Given the description of an element on the screen output the (x, y) to click on. 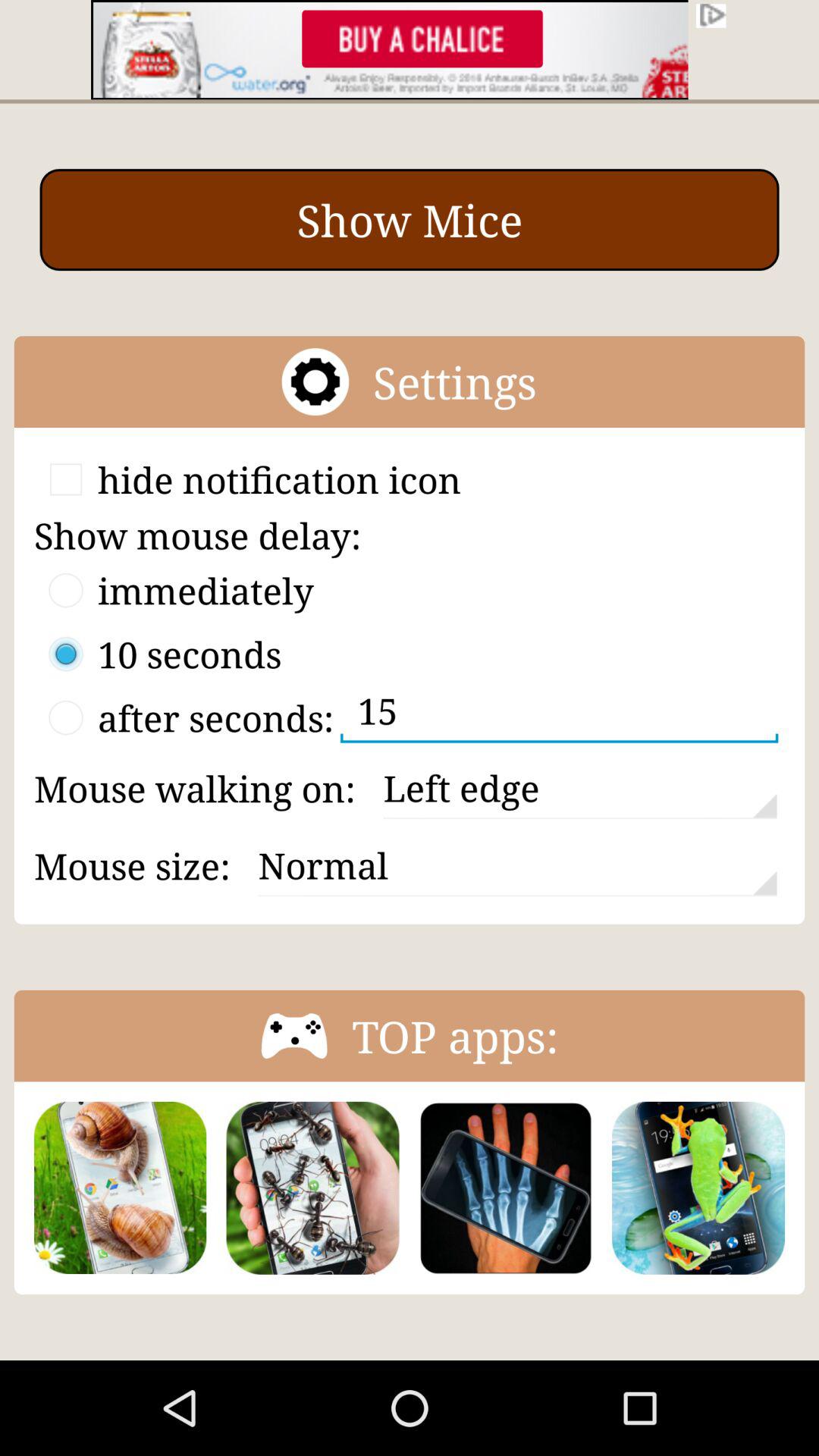
mobile app (505, 1187)
